Given the description of an element on the screen output the (x, y) to click on. 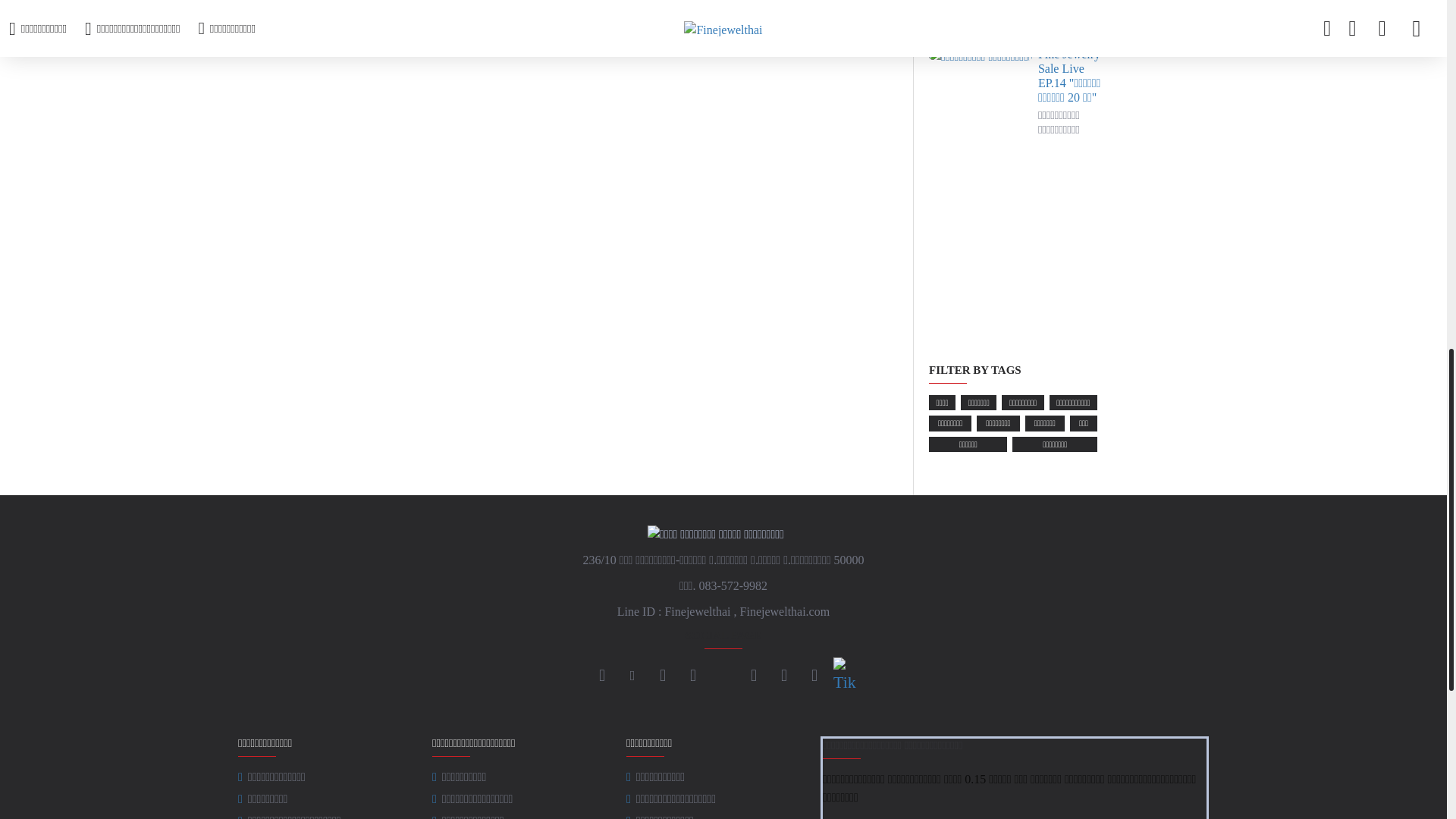
Twitter (753, 675)
Youtube (692, 675)
IG (632, 675)
Facebook (601, 675)
Google (783, 675)
